Given the description of an element on the screen output the (x, y) to click on. 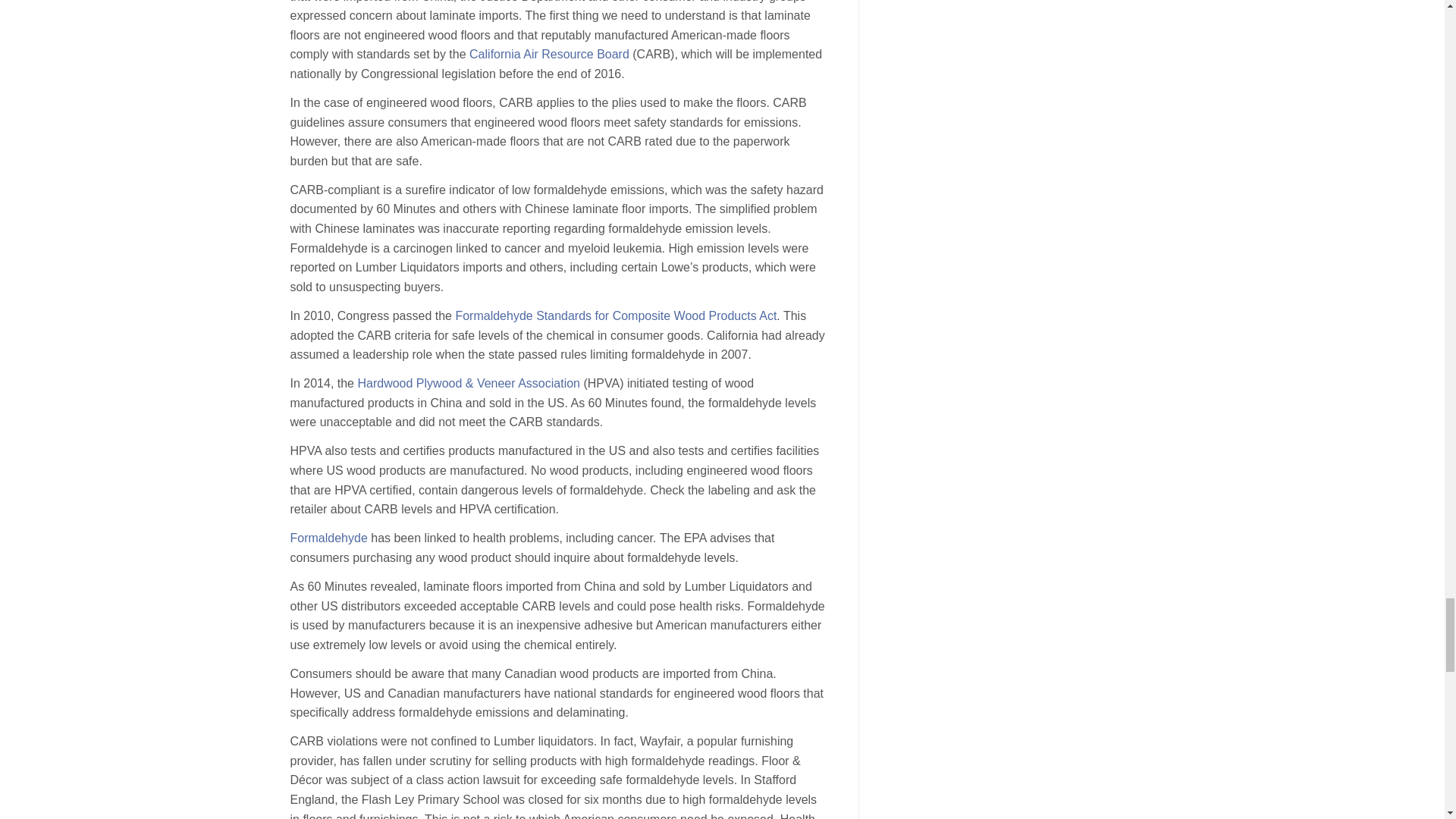
Formaldehyde (327, 537)
Formaldehyde Standards for Composite Wood Products Act (615, 315)
California Air Resource Board (548, 53)
